Given the description of an element on the screen output the (x, y) to click on. 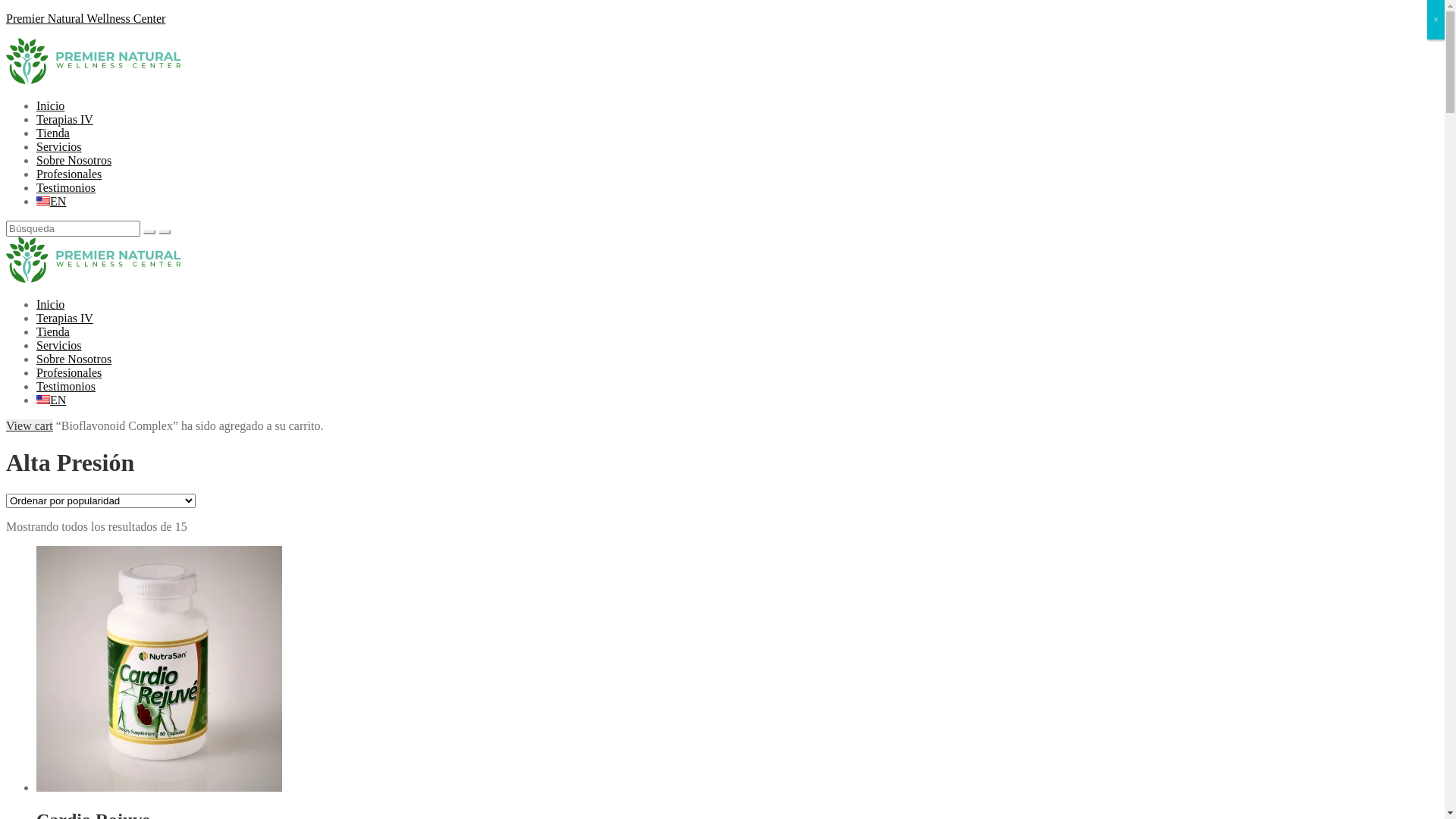
Tienda Element type: text (52, 331)
Testimonios Element type: text (65, 385)
Inicio Element type: text (50, 105)
Premier Natural Wellness Center Element type: text (85, 18)
Sobre Nosotros Element type: text (73, 358)
Servicios Element type: text (58, 146)
View cart Element type: text (29, 425)
Inicio Element type: text (50, 304)
Testimonios Element type: text (65, 187)
Profesionales Element type: text (68, 173)
Servicios Element type: text (58, 344)
Terapias IV Element type: text (64, 118)
English Element type: hover (43, 200)
Search Element type: hover (73, 228)
Tienda Element type: text (52, 132)
English Element type: hover (43, 399)
Profesionales Element type: text (68, 372)
EN Element type: text (50, 200)
Sobre Nosotros Element type: text (73, 159)
Terapias IV Element type: text (64, 317)
EN Element type: text (50, 399)
